Given the description of an element on the screen output the (x, y) to click on. 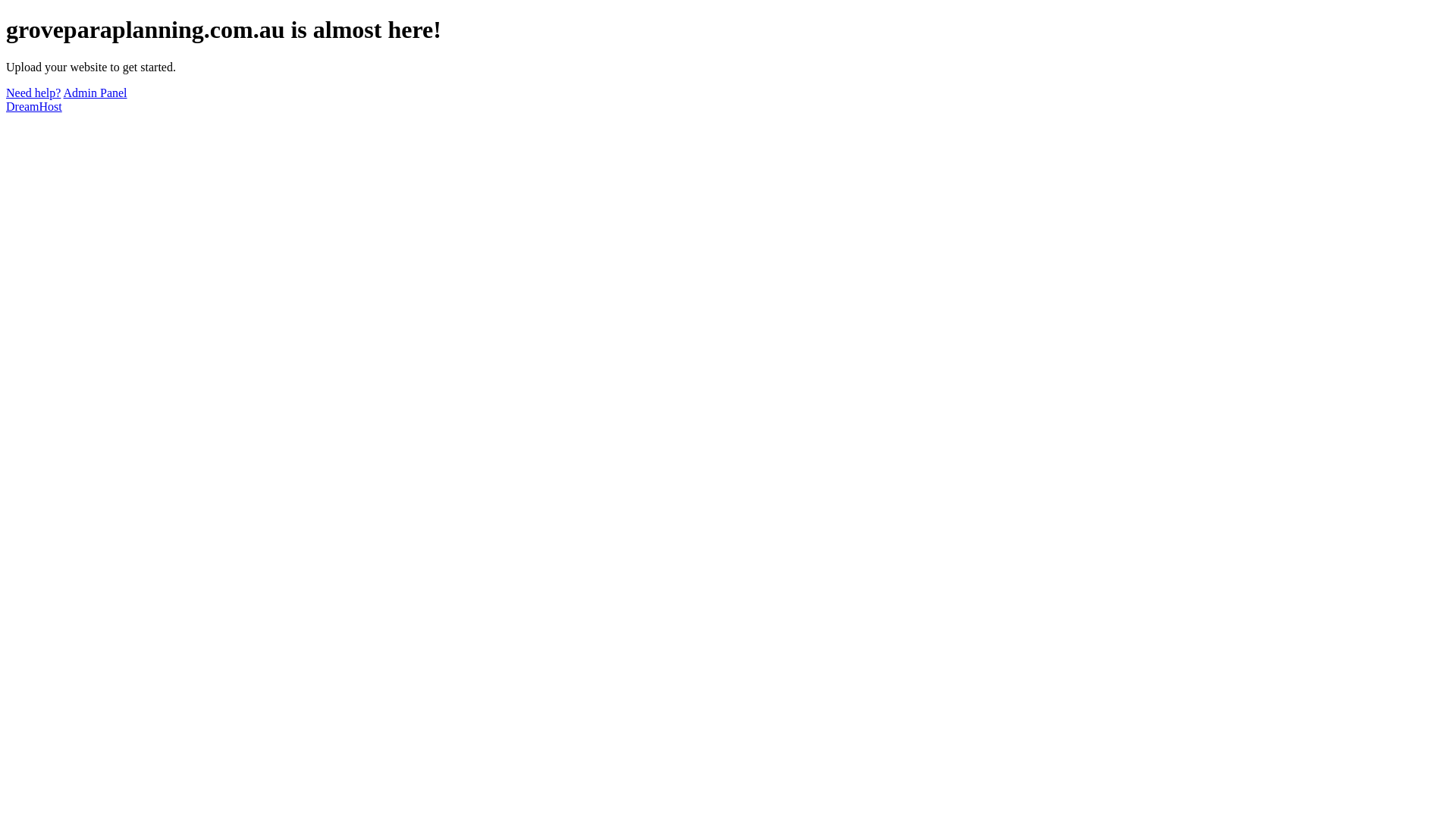
Need help? Element type: text (33, 92)
DreamHost Element type: text (34, 106)
Admin Panel Element type: text (95, 92)
